Given the description of an element on the screen output the (x, y) to click on. 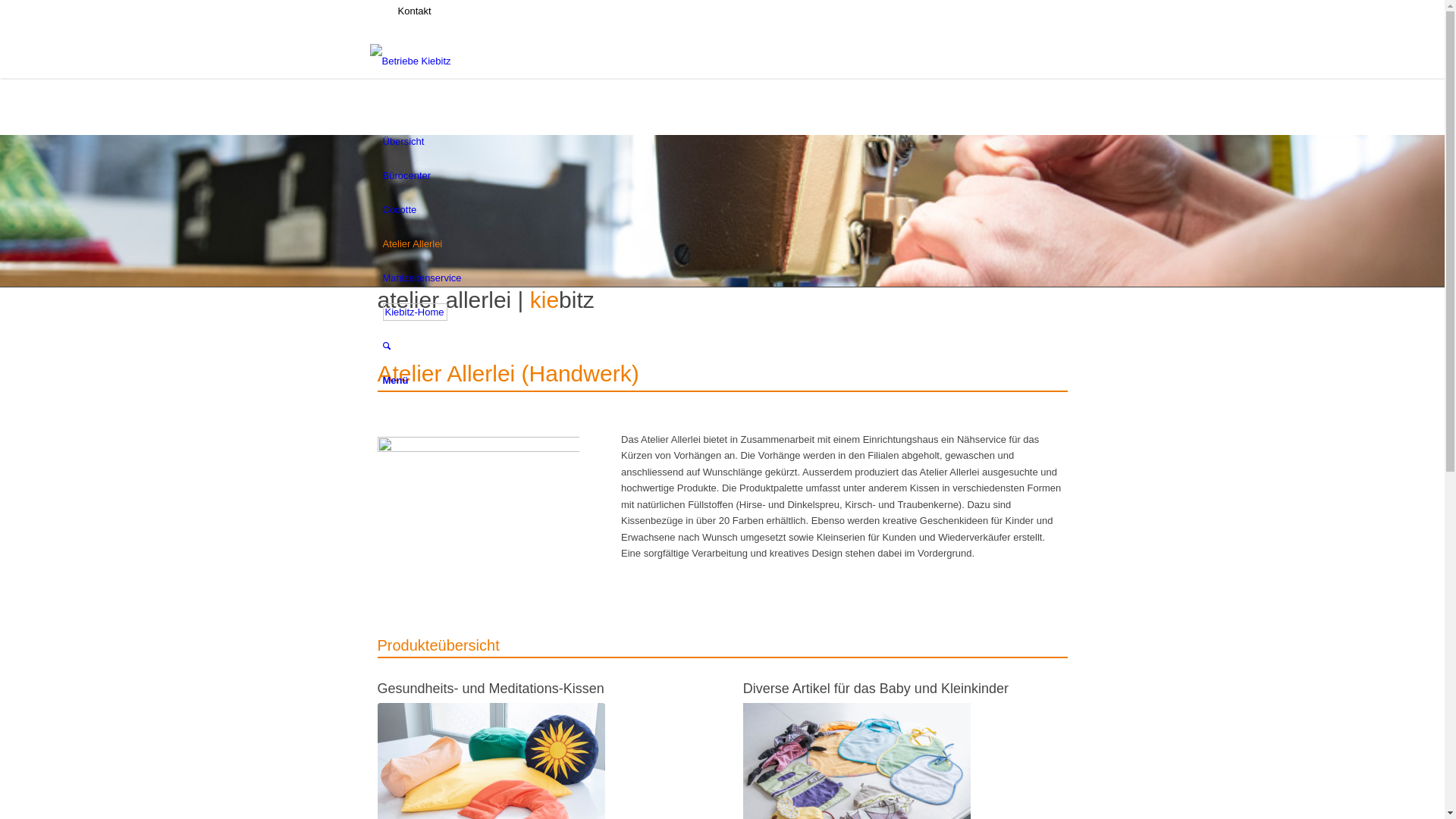
Atelier Allerlei Element type: text (412, 243)
Kiebietz_Atelier Allerlei 2 Element type: hover (478, 503)
Kontakt Element type: text (412, 10)
Mahlzeitenservice Element type: text (421, 277)
Kiebitz-Home Element type: text (414, 311)
Cocotte Element type: text (399, 209)
